Given the description of an element on the screen output the (x, y) to click on. 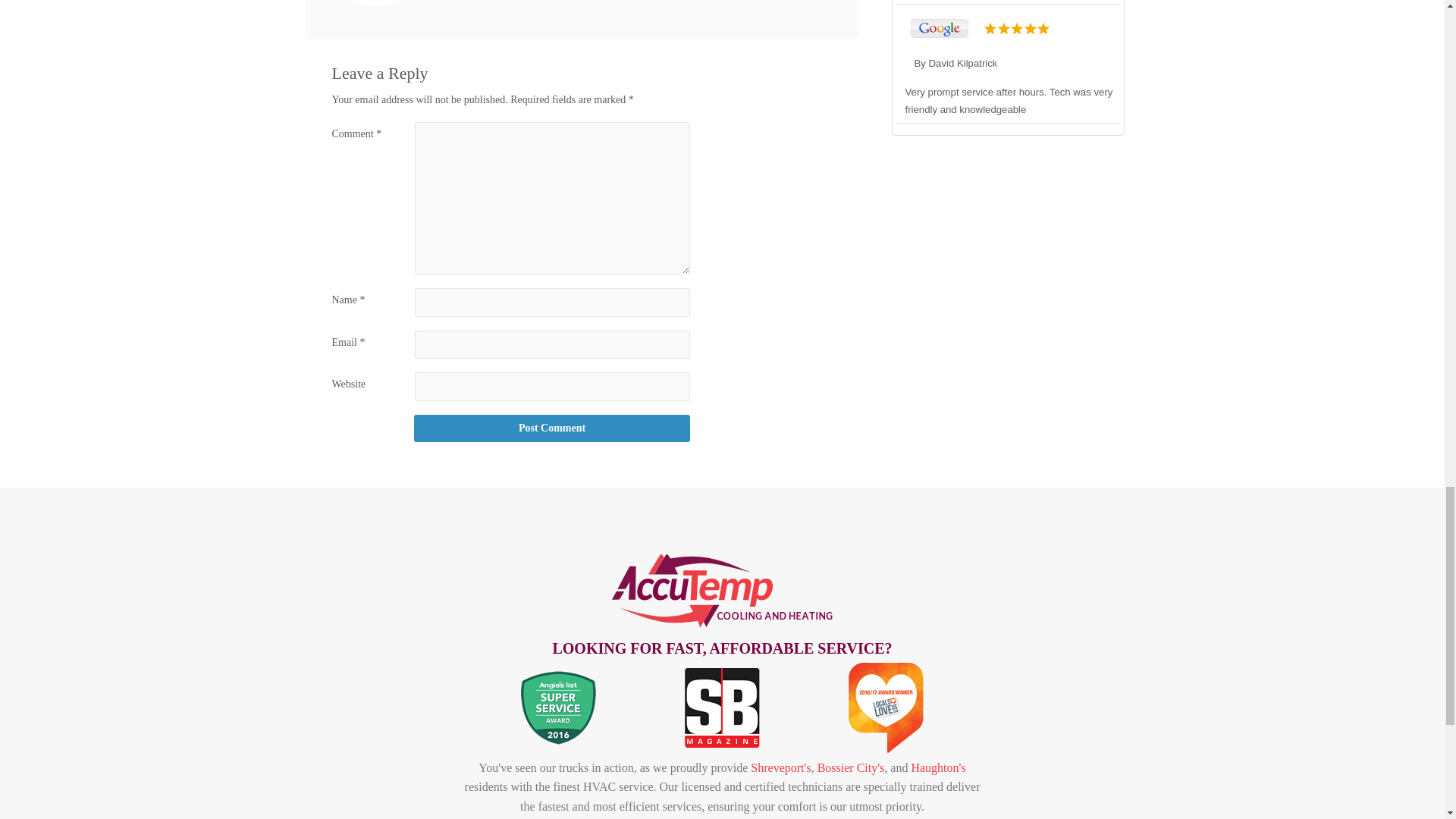
Post Comment (550, 428)
